Given the description of an element on the screen output the (x, y) to click on. 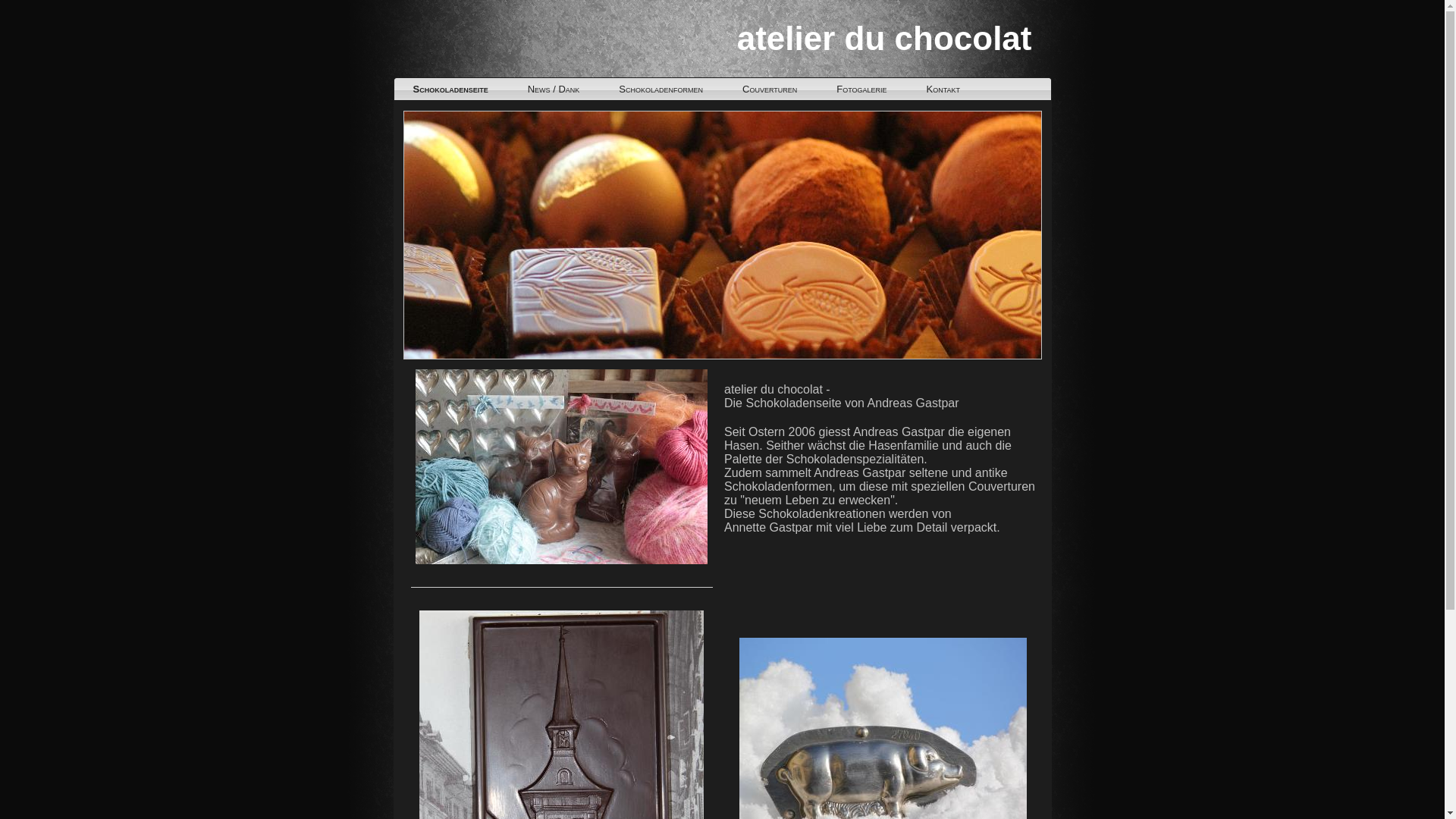
Schokoladenseite Element type: text (449, 88)
Fotogalerie Element type: text (861, 88)
Schokoladenformen Element type: text (660, 88)
News / Dank Element type: text (553, 88)
Kontakt Element type: text (943, 88)
atelier du chocolat Element type: text (884, 37)
Couverturen Element type: text (769, 88)
